Given the description of an element on the screen output the (x, y) to click on. 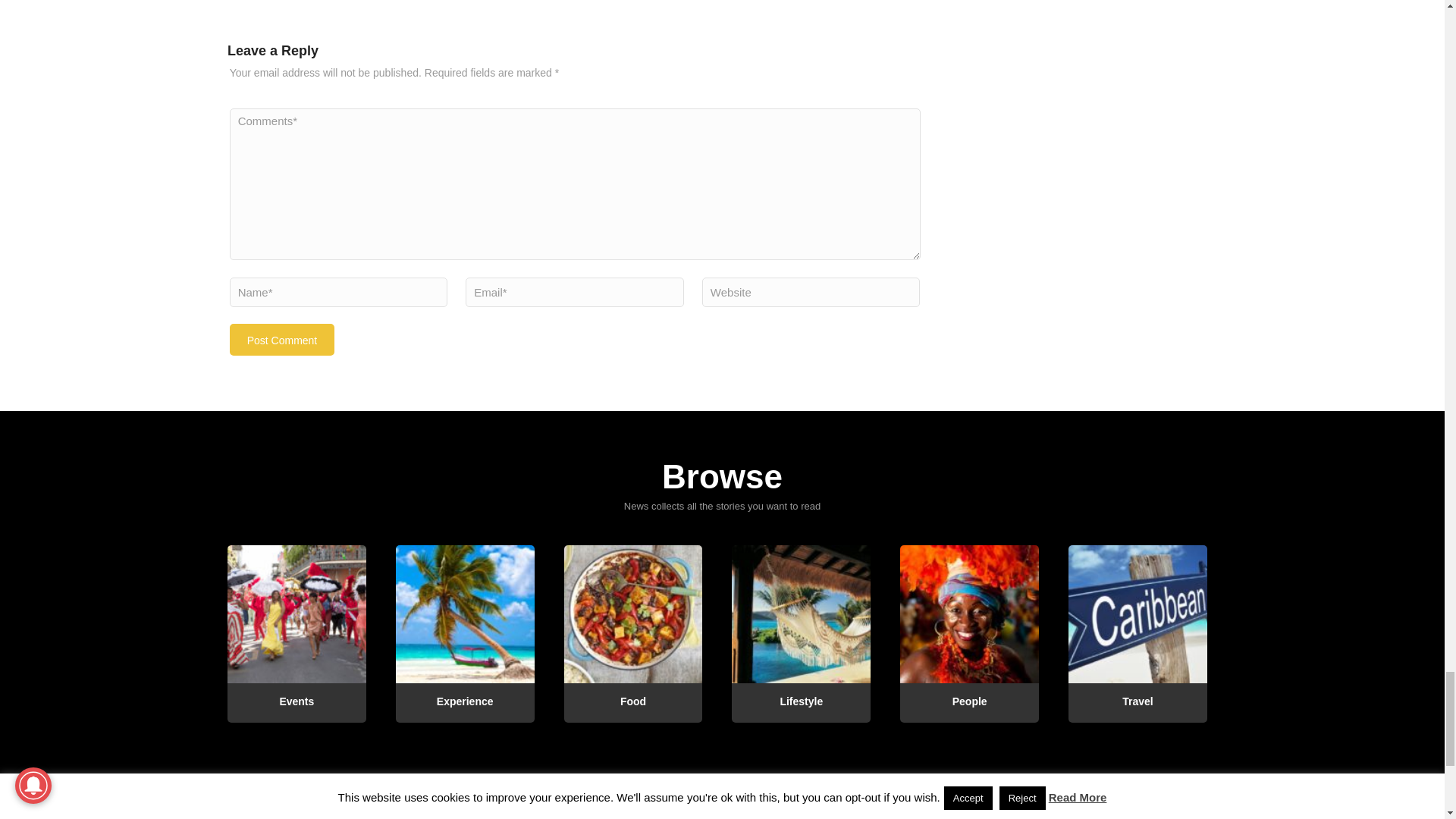
Post Comment (282, 339)
